Given the description of an element on the screen output the (x, y) to click on. 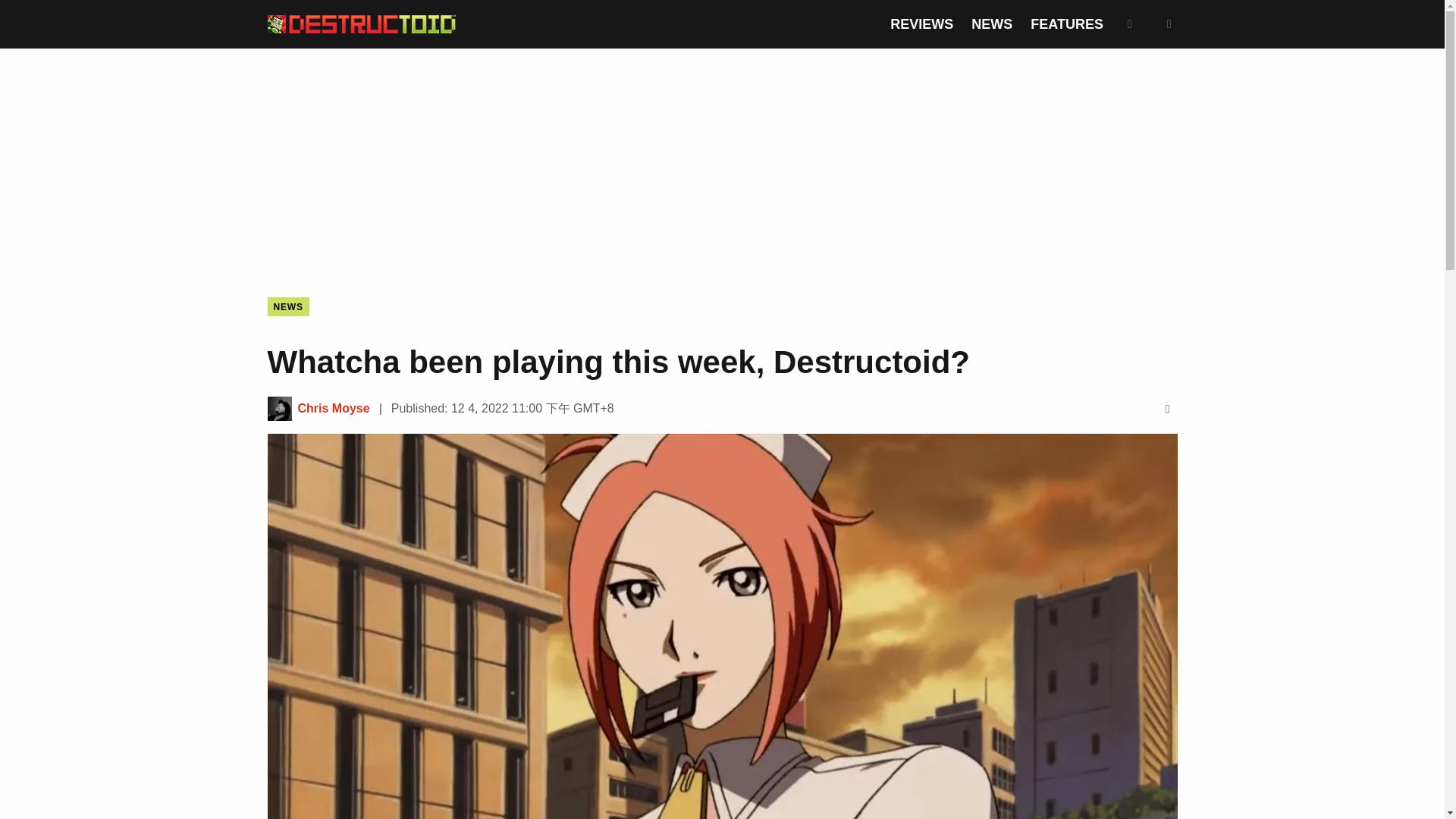
Expand Menu (1168, 23)
Dark Mode (1149, 23)
Search (1129, 23)
REVIEWS (921, 23)
NEWS (991, 23)
FEATURES (1066, 23)
NEWS (287, 306)
